Given the description of an element on the screen output the (x, y) to click on. 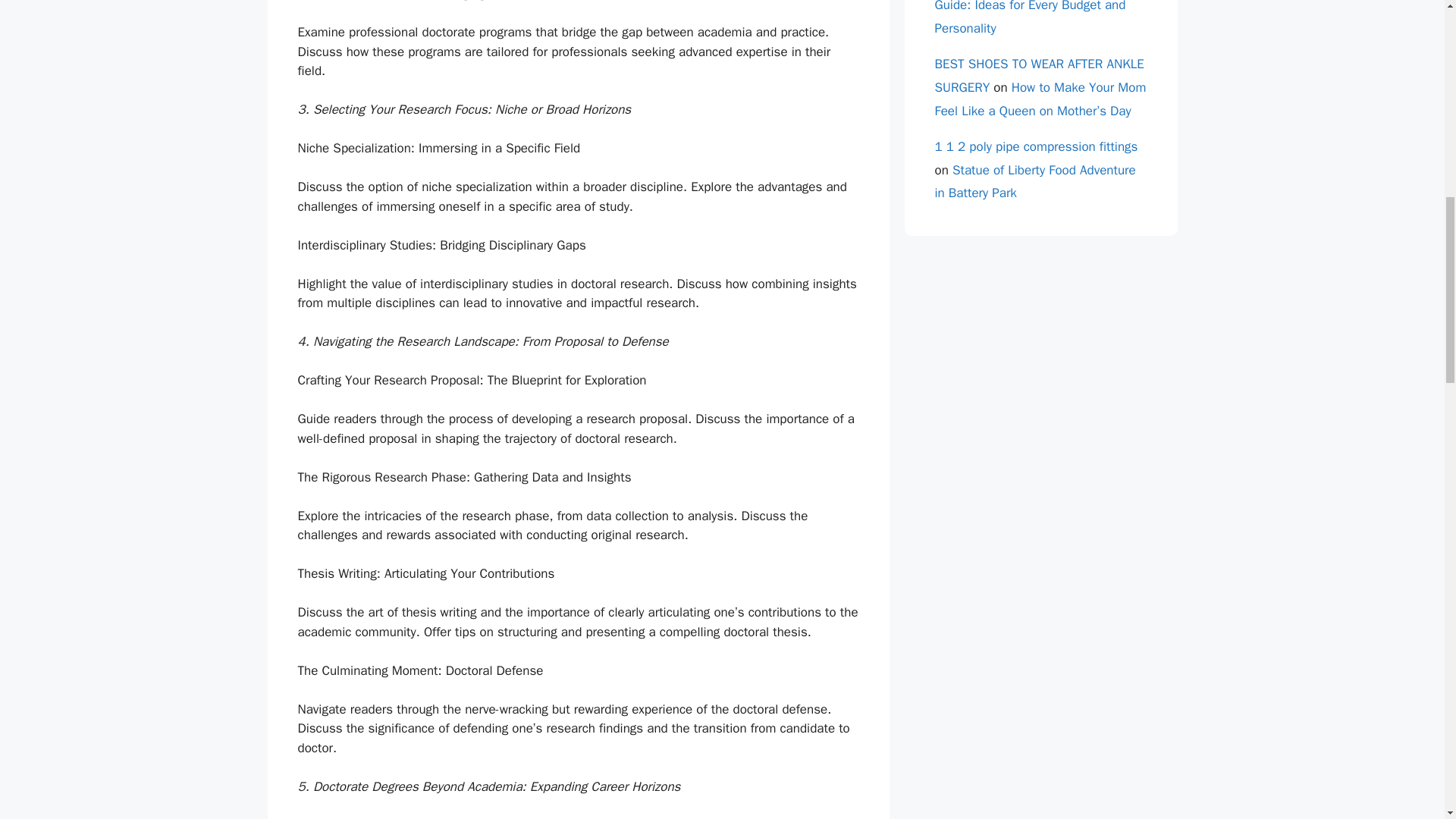
1 1 2 poly pipe compression fittings (1035, 146)
BEST SHOES TO WEAR AFTER ANKLE SURGERY (1038, 75)
Statue of Liberty Food Adventure in Battery Park (1034, 181)
